Given the description of an element on the screen output the (x, y) to click on. 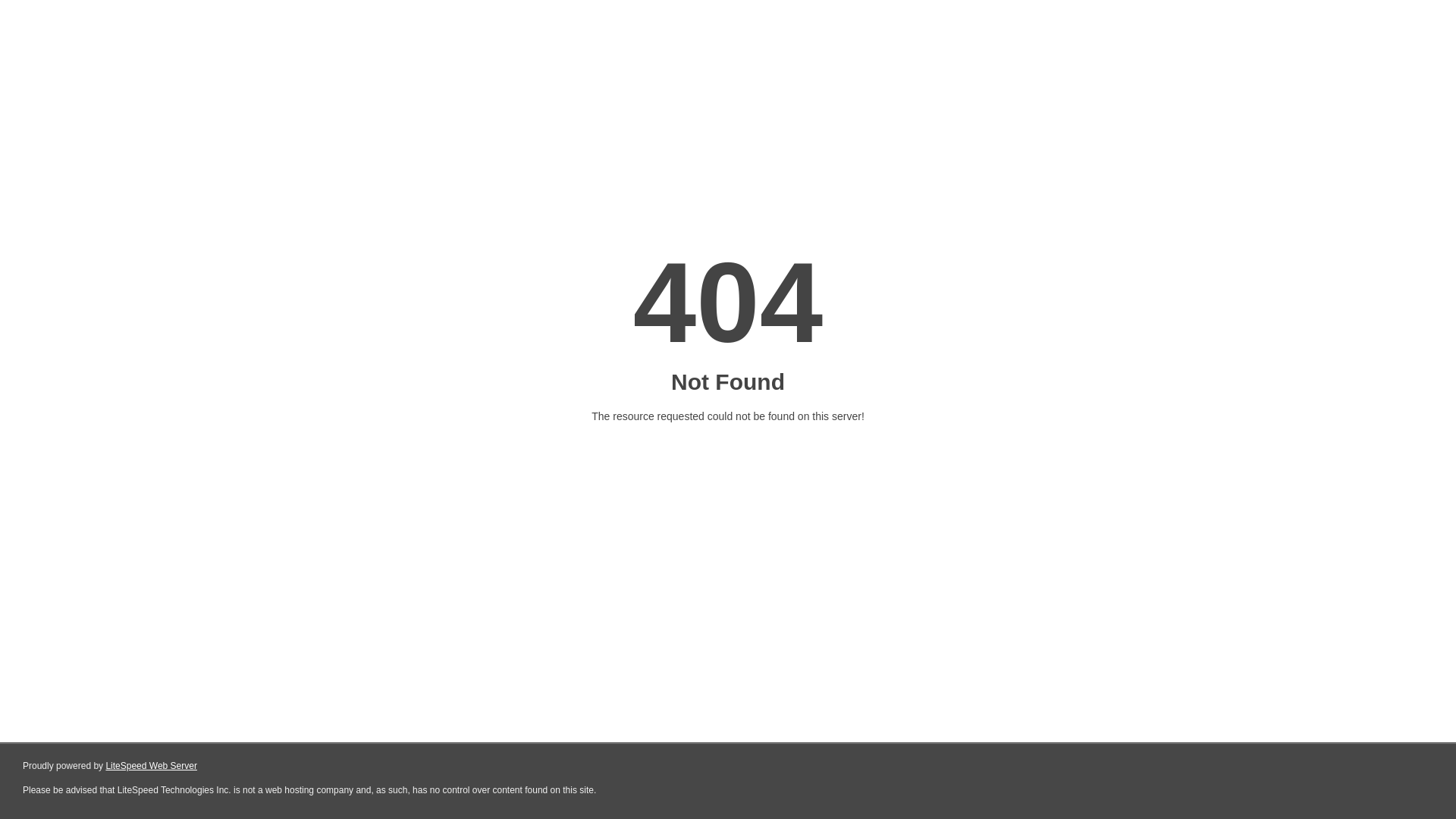
LiteSpeed Web Server Element type: text (151, 765)
